Given the description of an element on the screen output the (x, y) to click on. 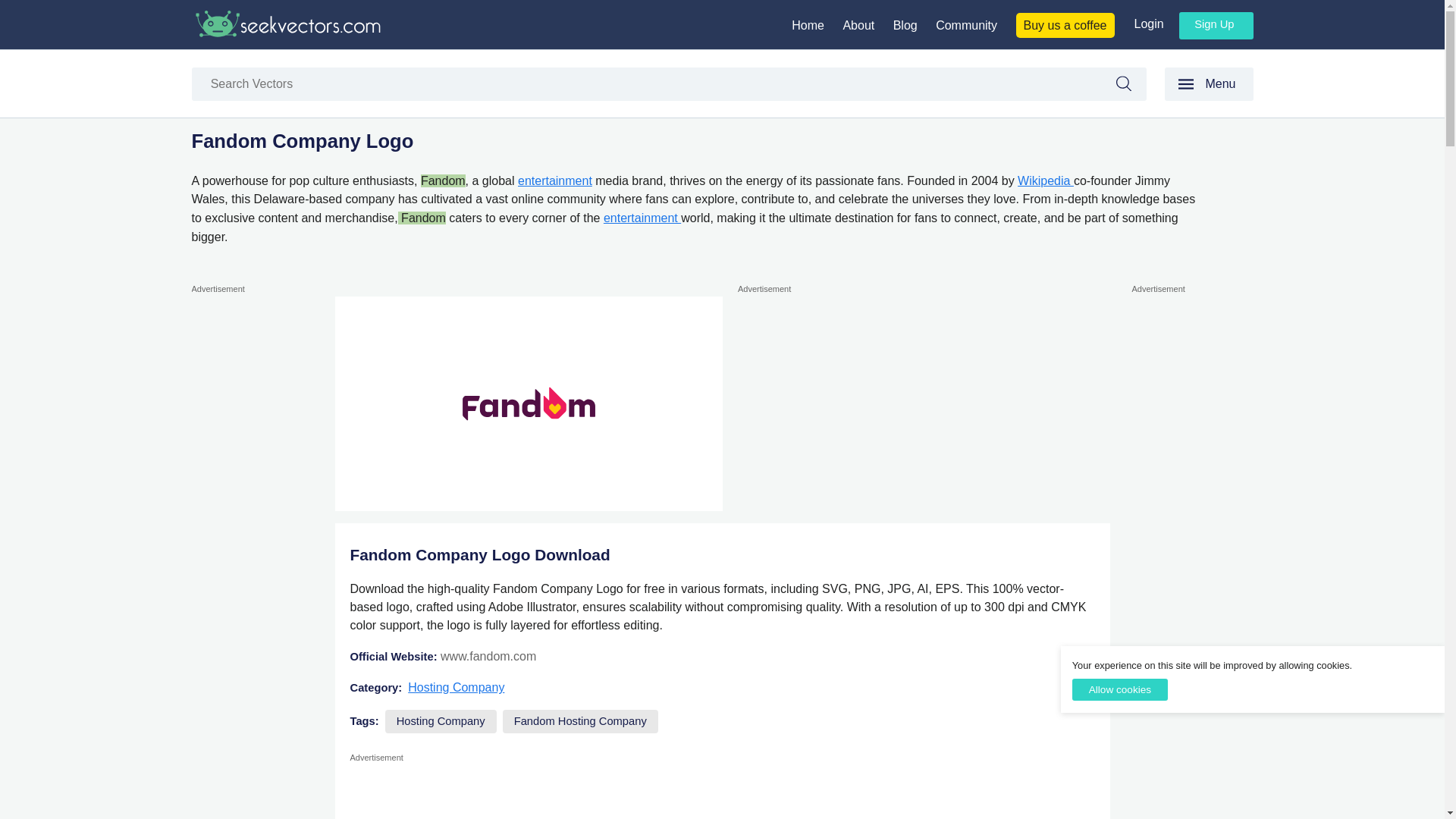
Home (808, 24)
SEARCH (1131, 86)
Blog (905, 24)
Sign Up (1215, 26)
Advertisement (923, 403)
Community (966, 24)
Login (1148, 23)
About (859, 24)
Buy us a coffee (1065, 25)
Advertisement (722, 792)
Fandom Company Logo (528, 403)
